Given the description of an element on the screen output the (x, y) to click on. 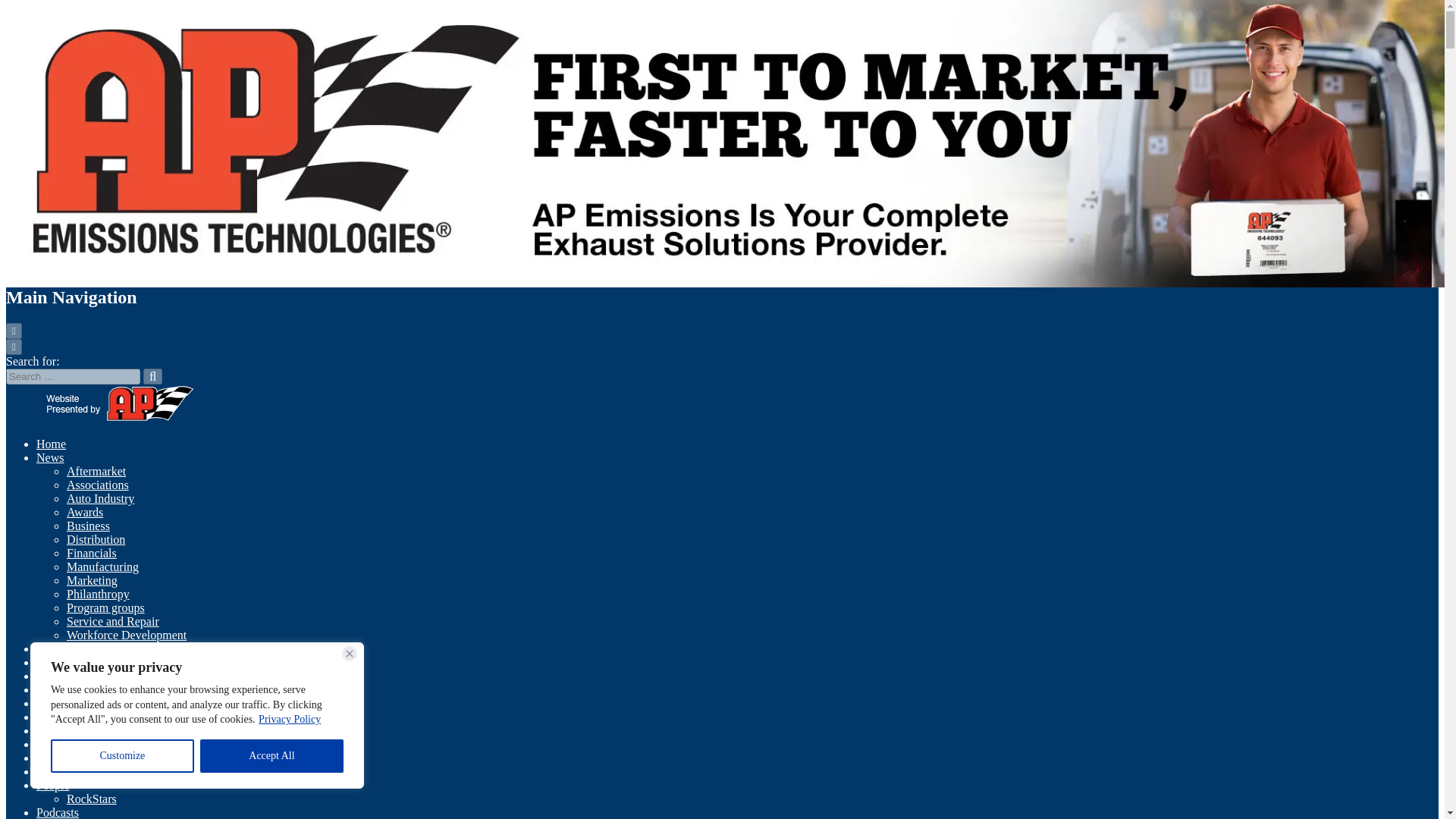
Auto Industry (99, 498)
Counter Professional of the Year (114, 648)
Marketing (91, 580)
Workforce Development (126, 634)
Home (50, 443)
Aftermarket (95, 471)
Customize (121, 756)
Home (50, 443)
Workforce Development (126, 634)
Service and Repair (112, 621)
Awards (84, 512)
Program groups (105, 607)
DIY by bproauto (77, 662)
Program groups (105, 607)
Accept All (271, 756)
